Given the description of an element on the screen output the (x, y) to click on. 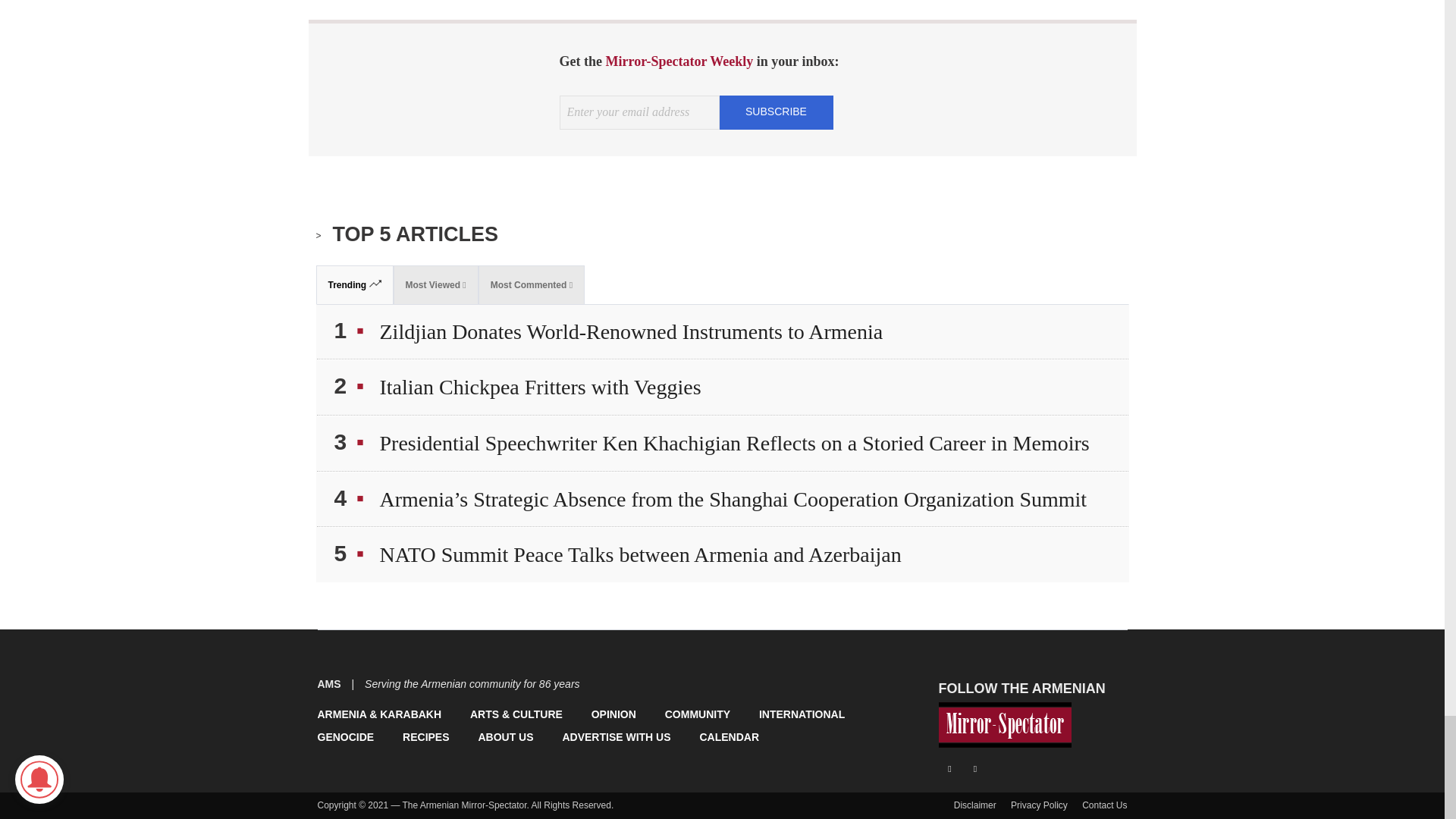
SUBSCRIBE (775, 111)
